Given the description of an element on the screen output the (x, y) to click on. 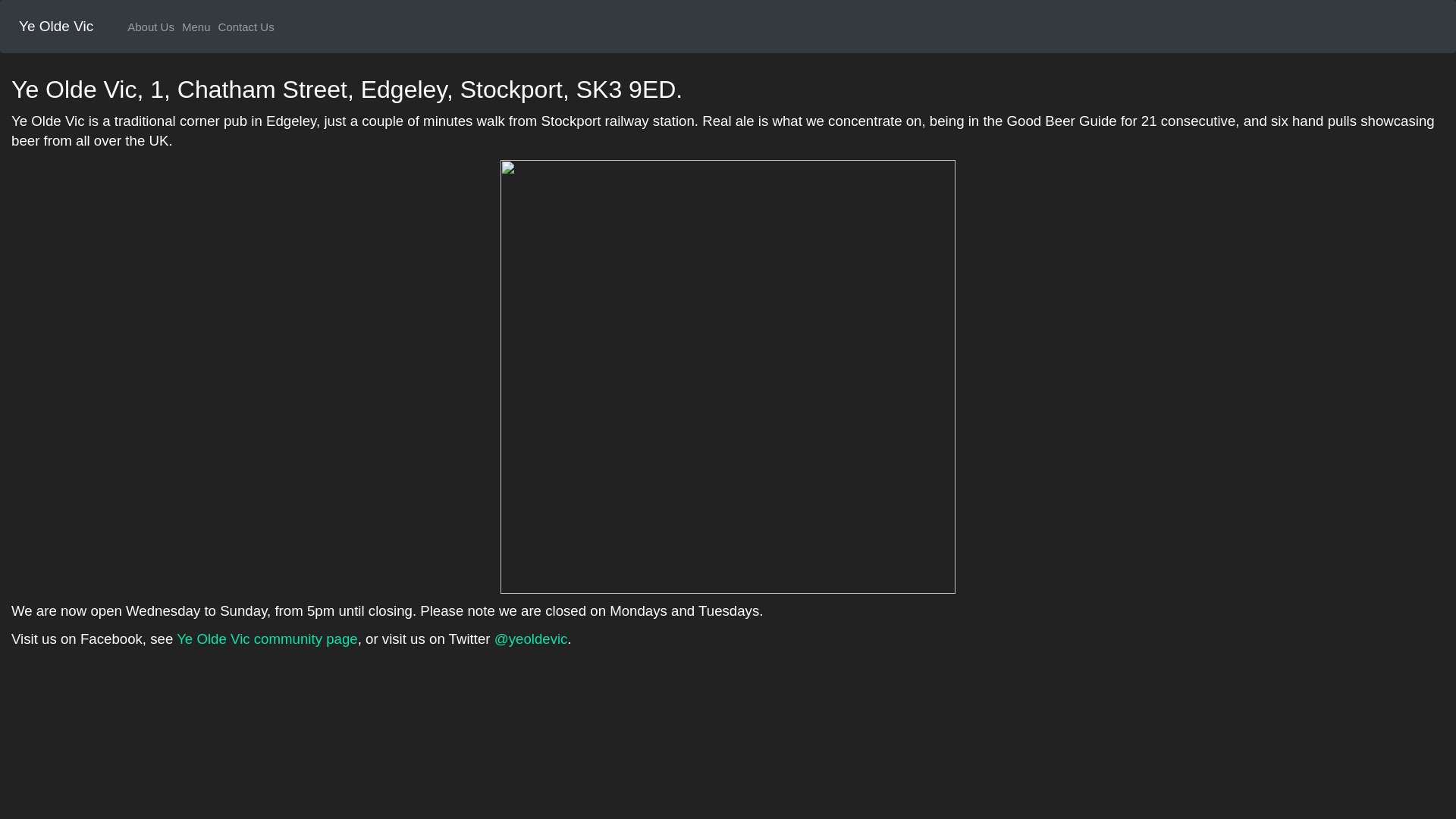
Menu (195, 26)
Ye Olde Vic (55, 26)
Contact Us (246, 26)
Ye Olde Vic community page (267, 638)
About Us (150, 26)
